Given the description of an element on the screen output the (x, y) to click on. 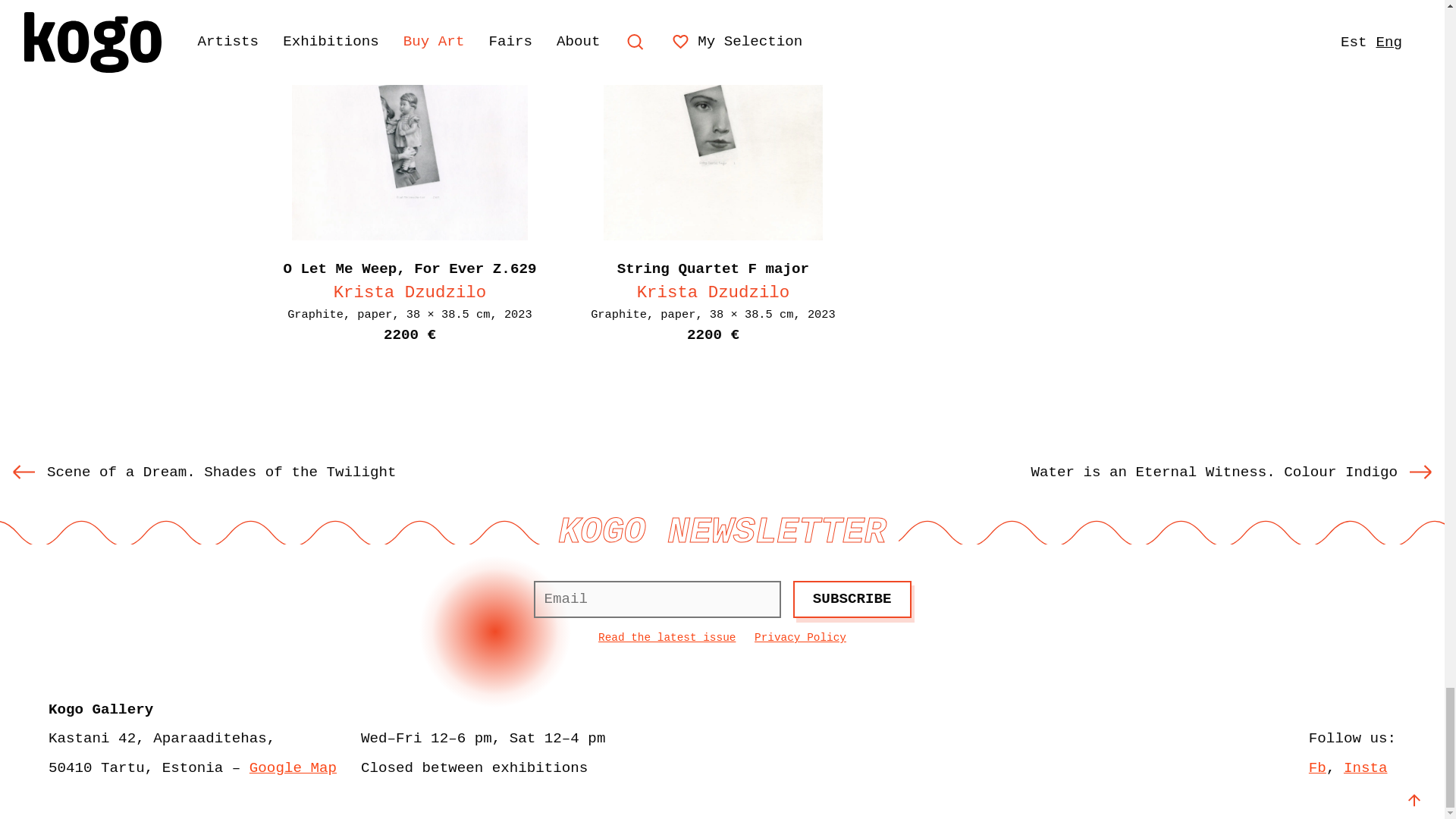
Krista Dzudzilo (713, 292)
String Quartet F major (713, 269)
Subscribe (852, 599)
